Given the description of an element on the screen output the (x, y) to click on. 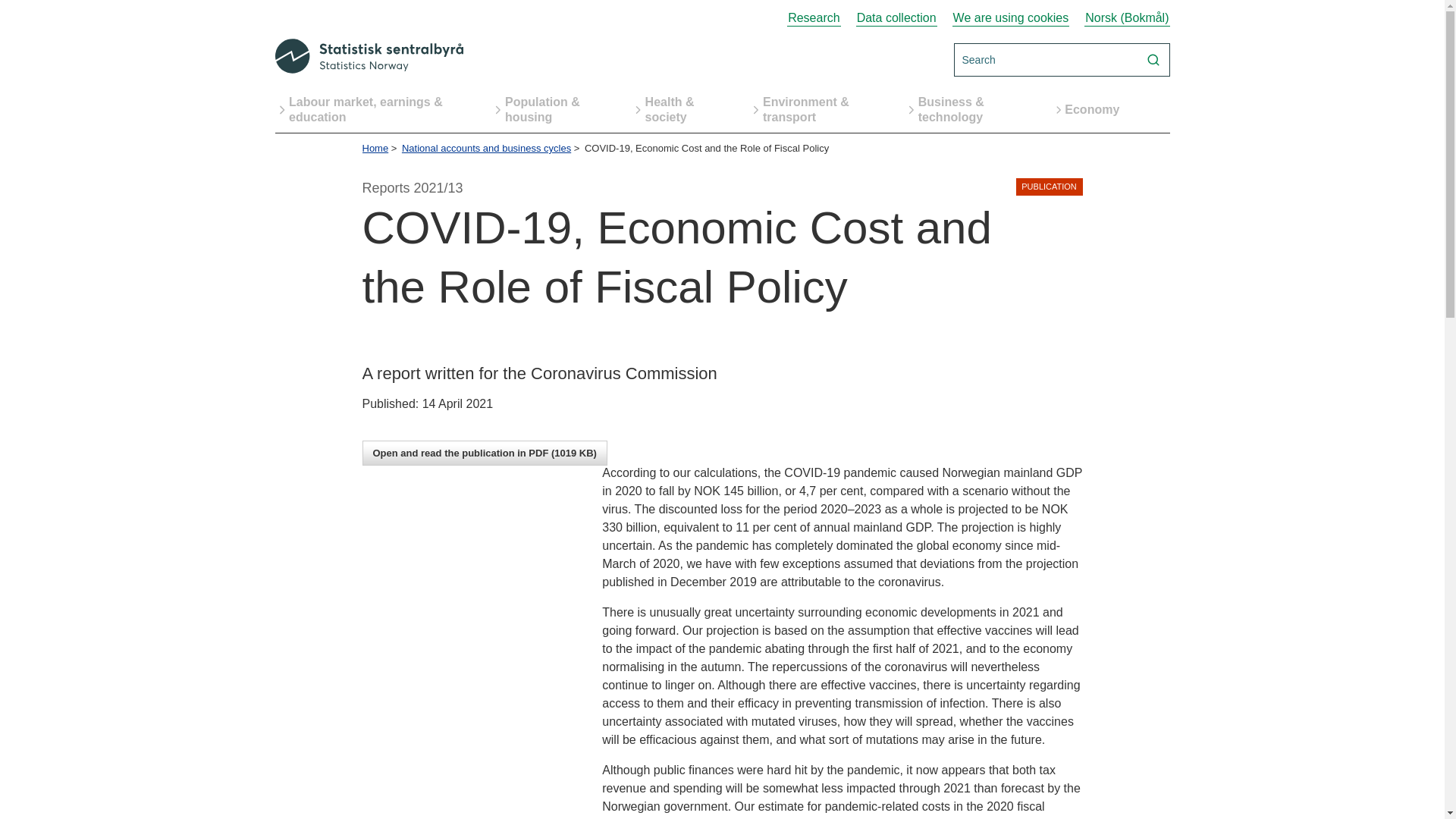
Data collection (896, 18)
We are using cookies (1011, 18)
language-changer (1126, 18)
Economy (1098, 109)
Research (813, 18)
